Given the description of an element on the screen output the (x, y) to click on. 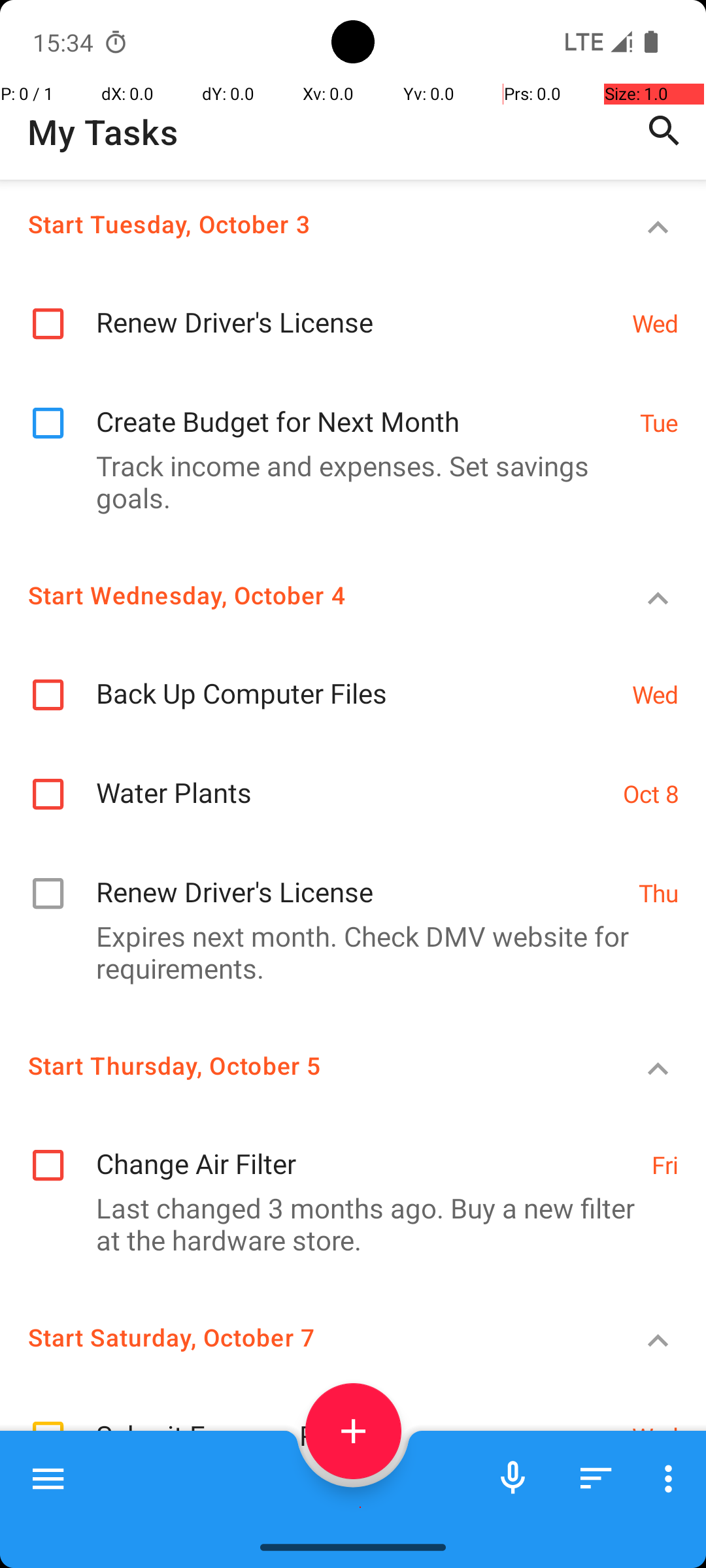
Start Tuesday, October 3 Element type: android.widget.TextView (304, 223)
Start Wednesday, October 4 Element type: android.widget.TextView (304, 594)
Start Thursday, October 5 Element type: android.widget.TextView (304, 1065)
Start Saturday, October 7 Element type: android.widget.TextView (304, 1336)
Track income and expenses. Set savings goals. Element type: android.widget.TextView (346, 481)
Expires next month. Check DMV website for requirements. Element type: android.widget.TextView (346, 951)
Last changed 3 months ago. Buy a new filter at the hardware store. Element type: android.widget.TextView (346, 1223)
